Given the description of an element on the screen output the (x, y) to click on. 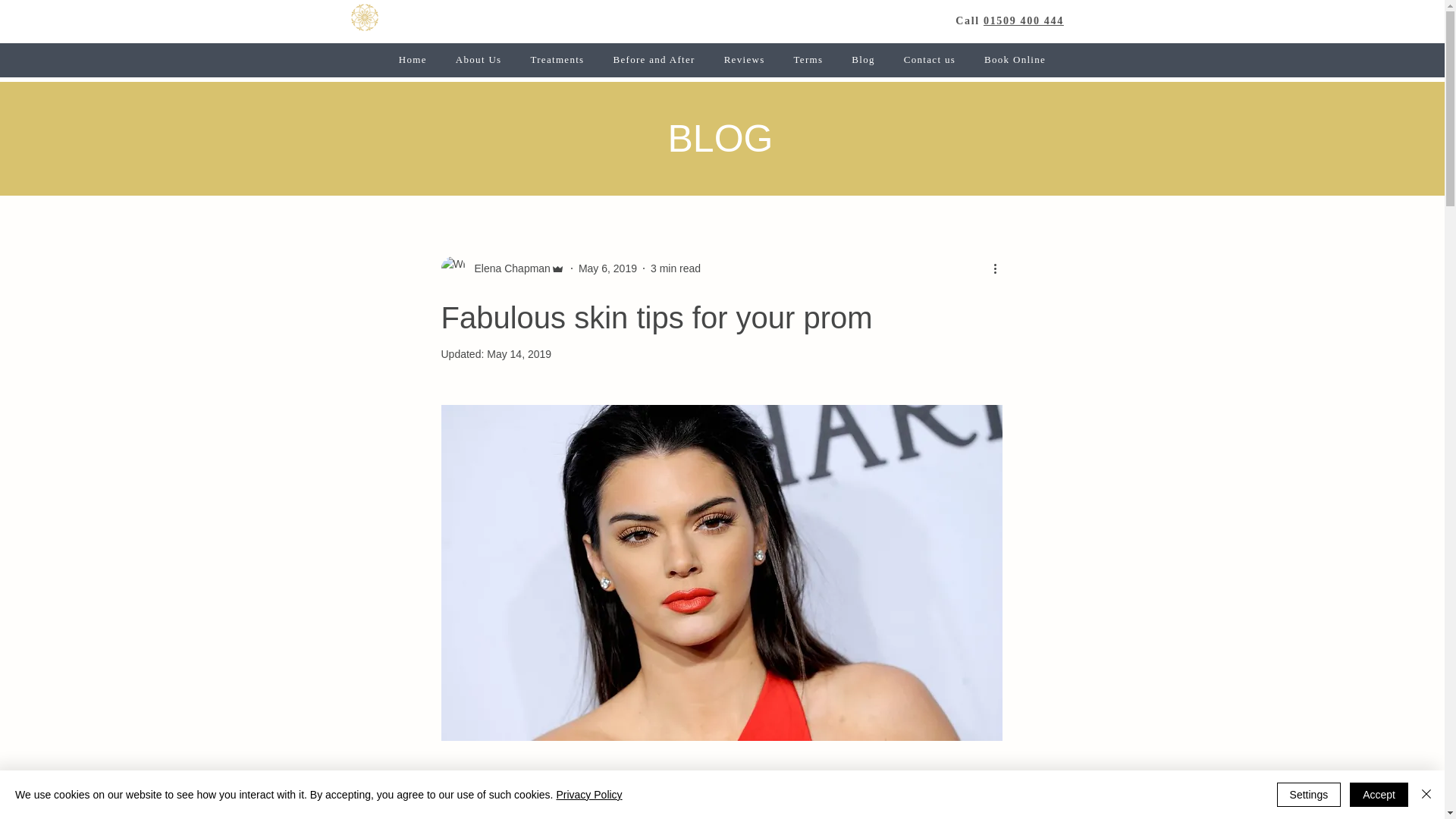
3 min read (675, 268)
01509 400 444 (1024, 20)
Elena Chapman (507, 268)
Treatments (556, 59)
May 6, 2019 (607, 268)
About Us (478, 59)
May 14, 2019 (518, 354)
Home (412, 59)
